Given the description of an element on the screen output the (x, y) to click on. 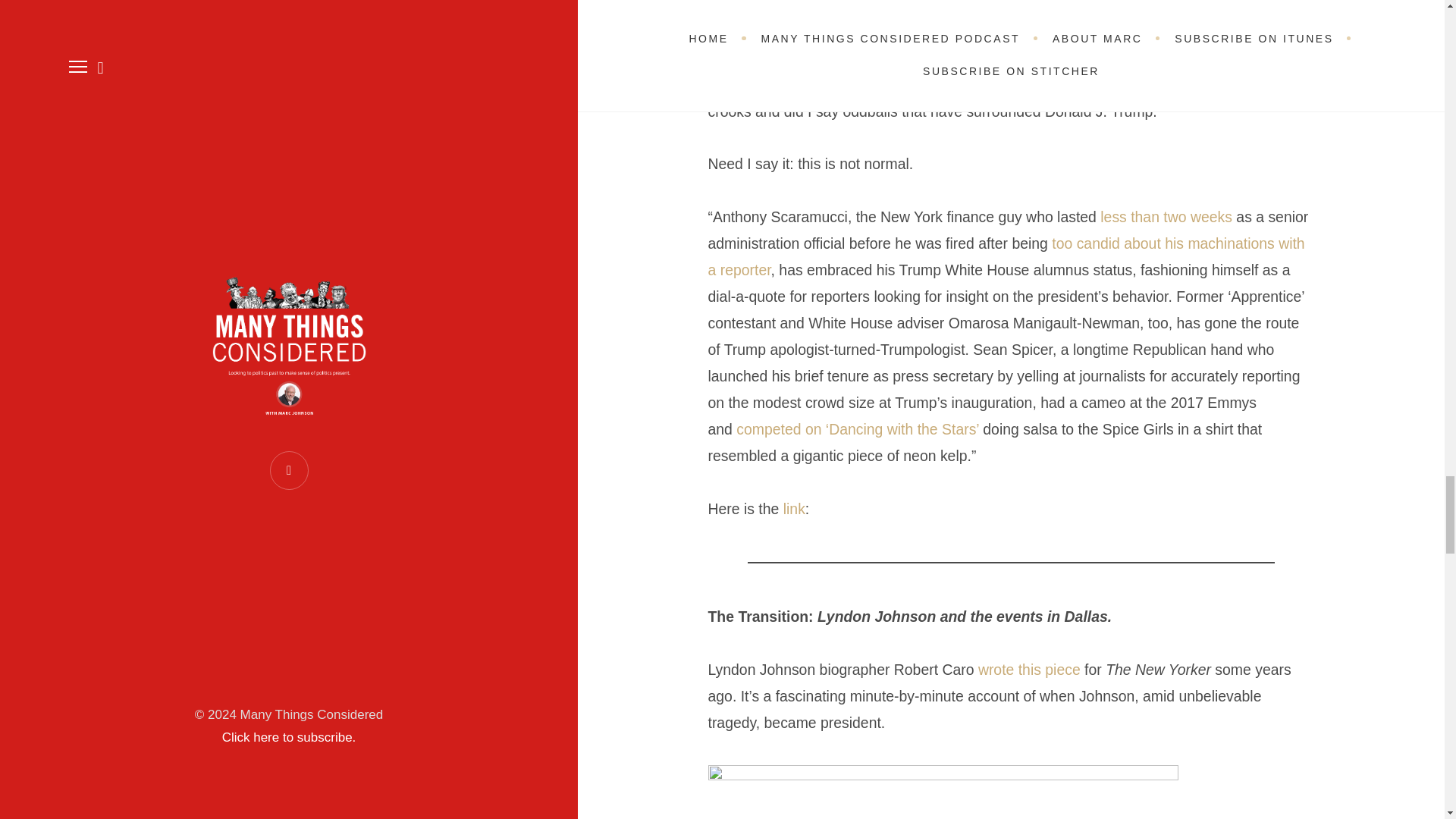
link (794, 508)
less than two weeks (1165, 216)
The Washington Post (863, 84)
wrote this piece (1029, 669)
too candid about his machinations with a reporter (1005, 256)
